Given the description of an element on the screen output the (x, y) to click on. 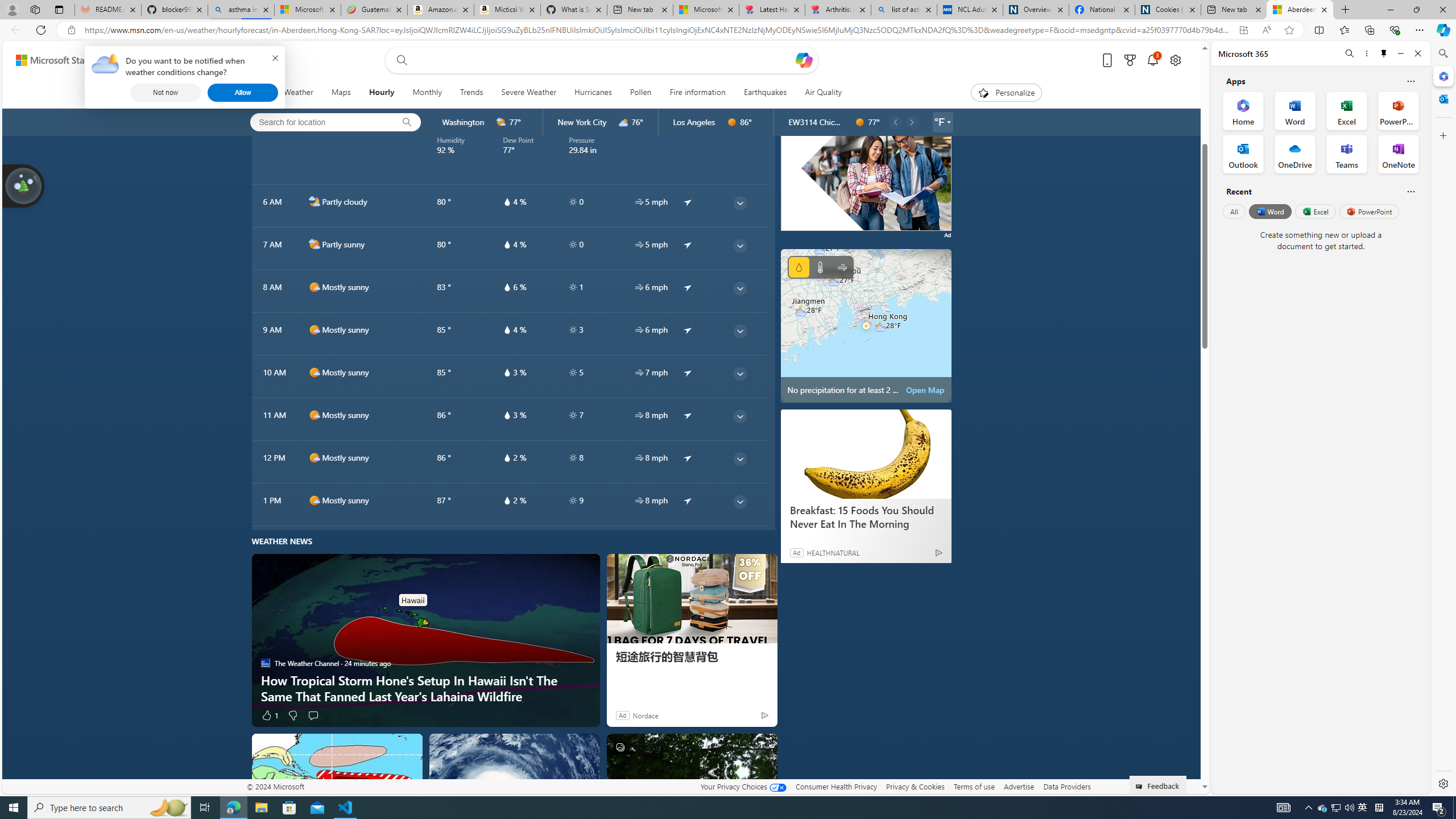
d0000 (860, 121)
Precipitation (798, 267)
Class: feedback_link_icon-DS-EntryPoint1-1 (1140, 786)
Data Providers (1066, 786)
Breakfast: 15 Foods You Should Never Eat In The Morning (866, 453)
OneDrive Office App (1295, 154)
Search for location (318, 122)
No precipitation for at least 2 hours (866, 325)
Join us in planting real trees to help our planet! (23, 184)
